Given the description of an element on the screen output the (x, y) to click on. 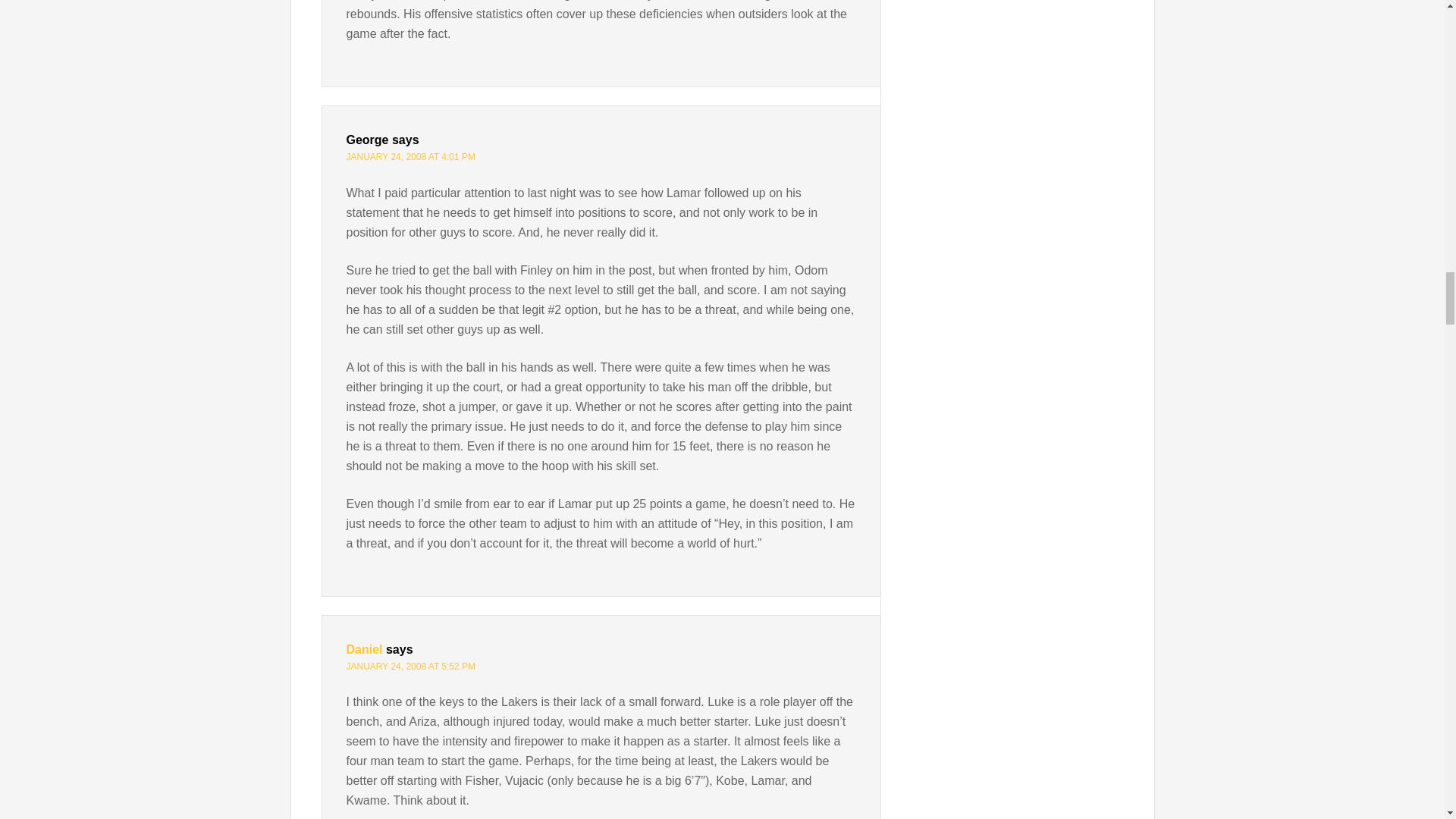
JANUARY 24, 2008 AT 5:52 PM (411, 665)
Daniel (363, 649)
JANUARY 24, 2008 AT 4:01 PM (411, 156)
